Given the description of an element on the screen output the (x, y) to click on. 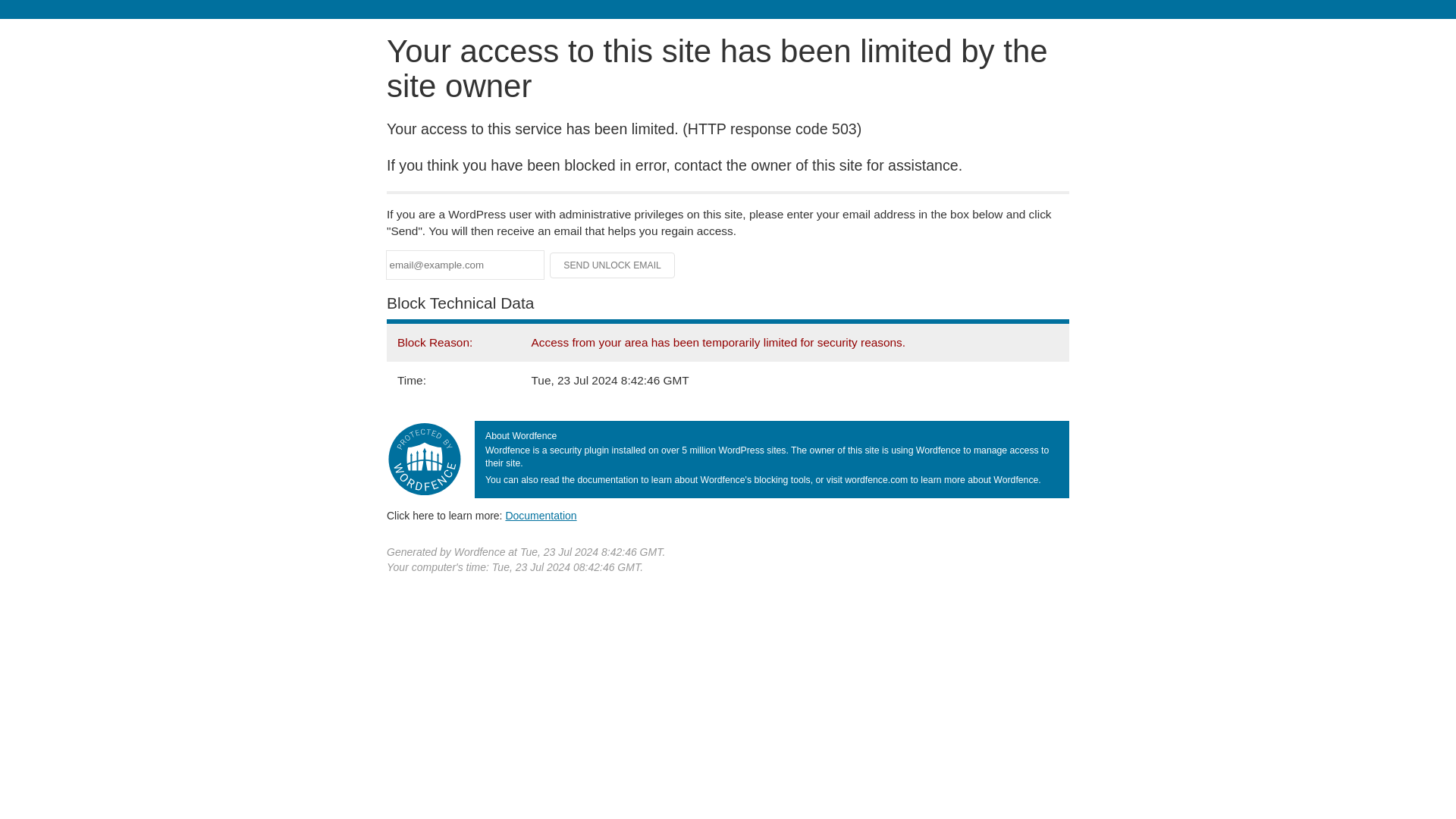
Documentation (540, 515)
Send Unlock Email (612, 265)
Send Unlock Email (612, 265)
